Given the description of an element on the screen output the (x, y) to click on. 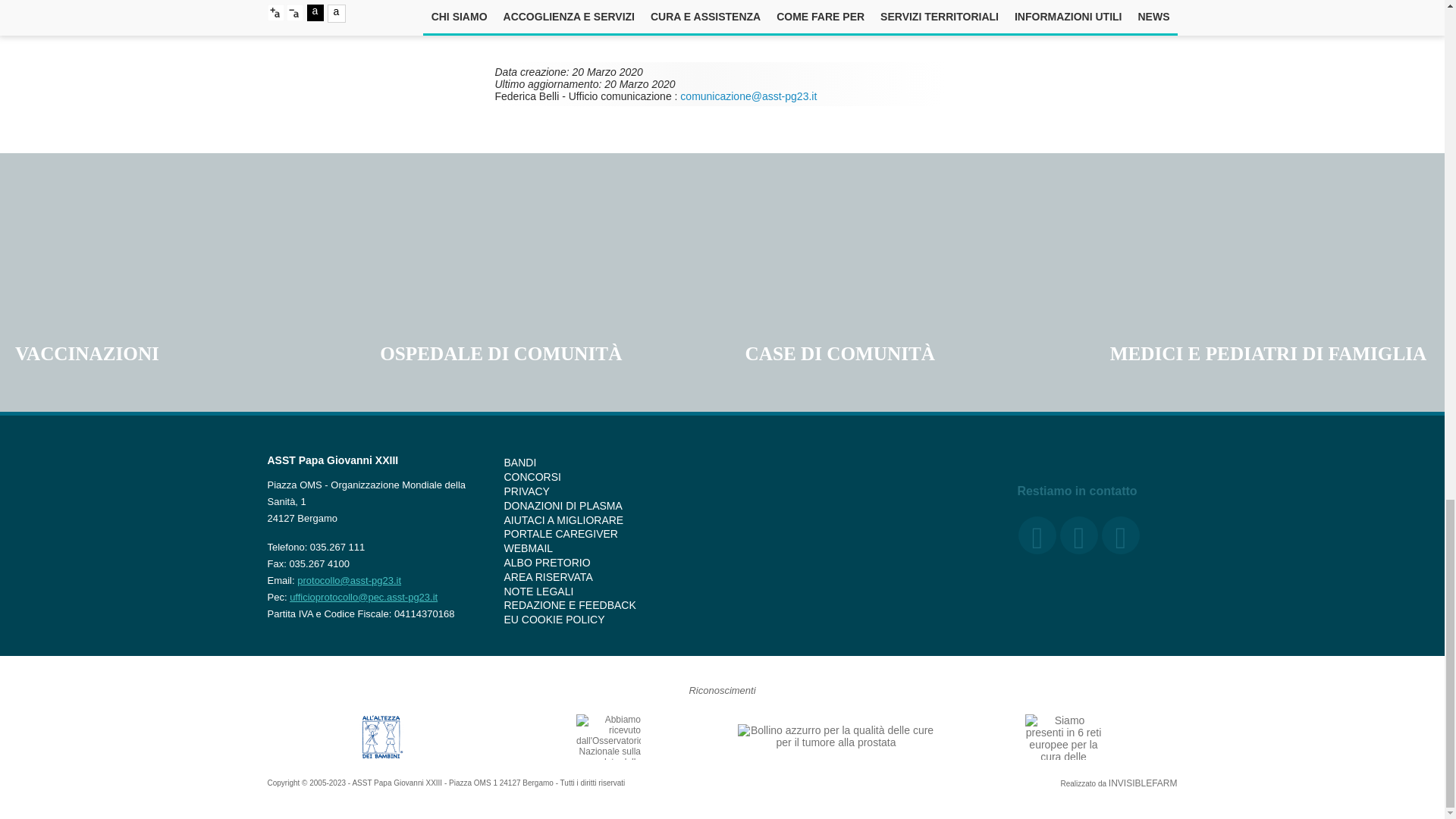
Albo Pretorio (546, 562)
PORTALE CAREGIVER (560, 533)
Sito realizzato da Invisiblefarm (1142, 783)
